Given the description of an element on the screen output the (x, y) to click on. 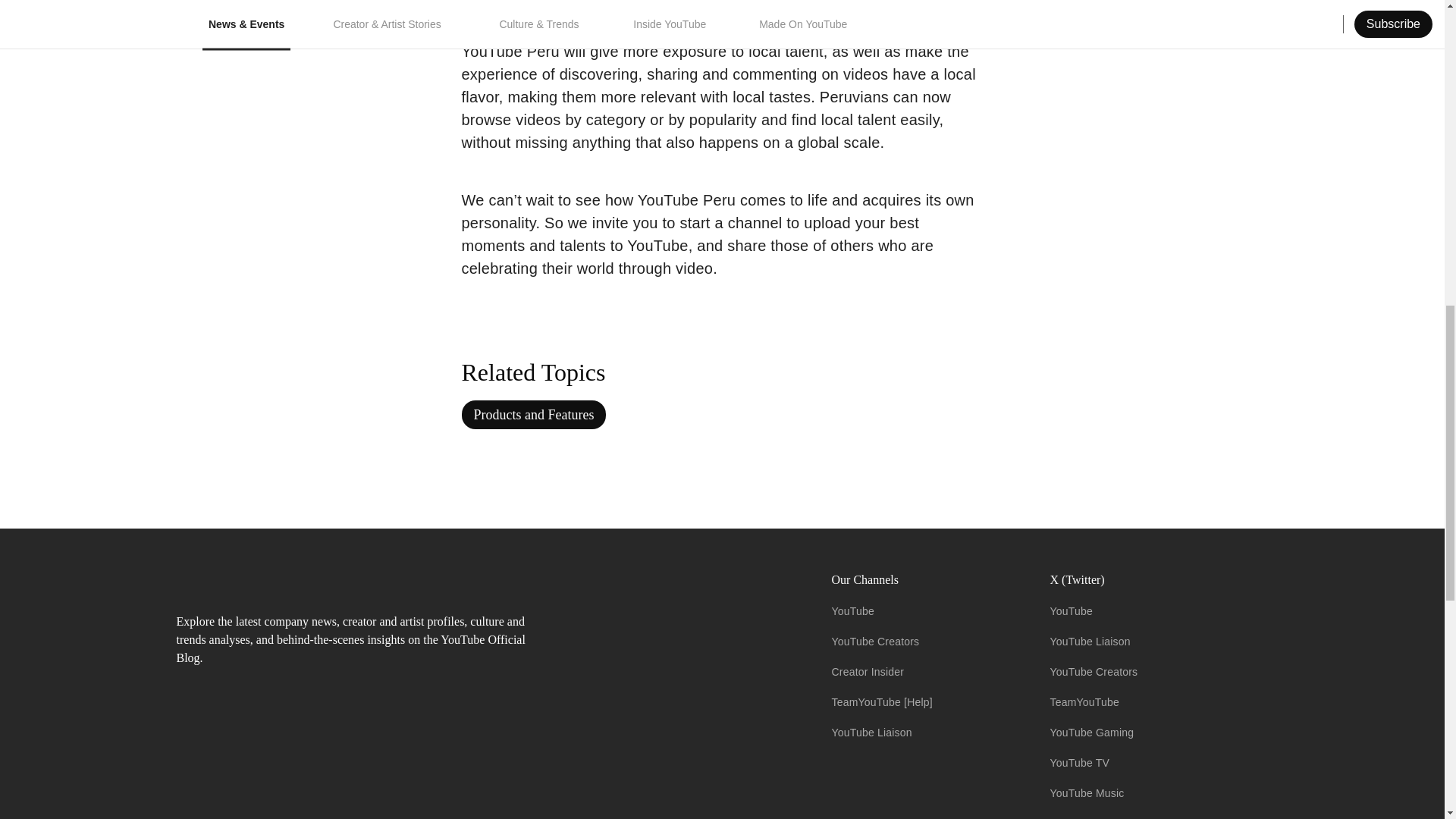
Colombia (493, 7)
Chile (579, 7)
Products and Features (533, 414)
Our Channels (928, 579)
YouTube (852, 611)
Products and Features (533, 414)
YouTube Creators (874, 641)
